Given the description of an element on the screen output the (x, y) to click on. 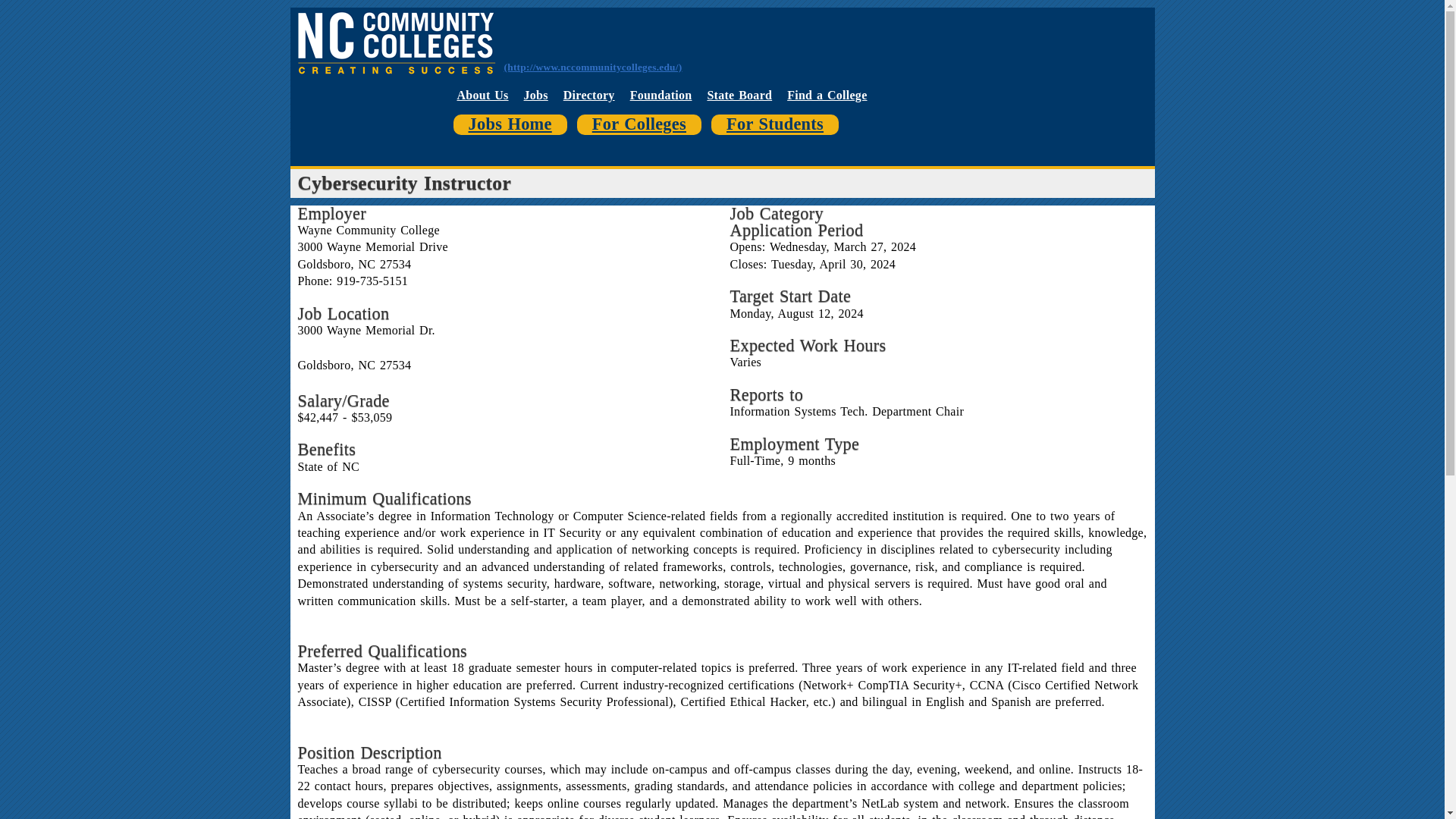
Directory (588, 94)
For Colleges (638, 124)
For Students (774, 124)
State Board (738, 94)
About Us (482, 94)
Jobs Home (509, 124)
Foundation (661, 94)
Jobs (536, 94)
Find a College (826, 94)
